Given the description of an element on the screen output the (x, y) to click on. 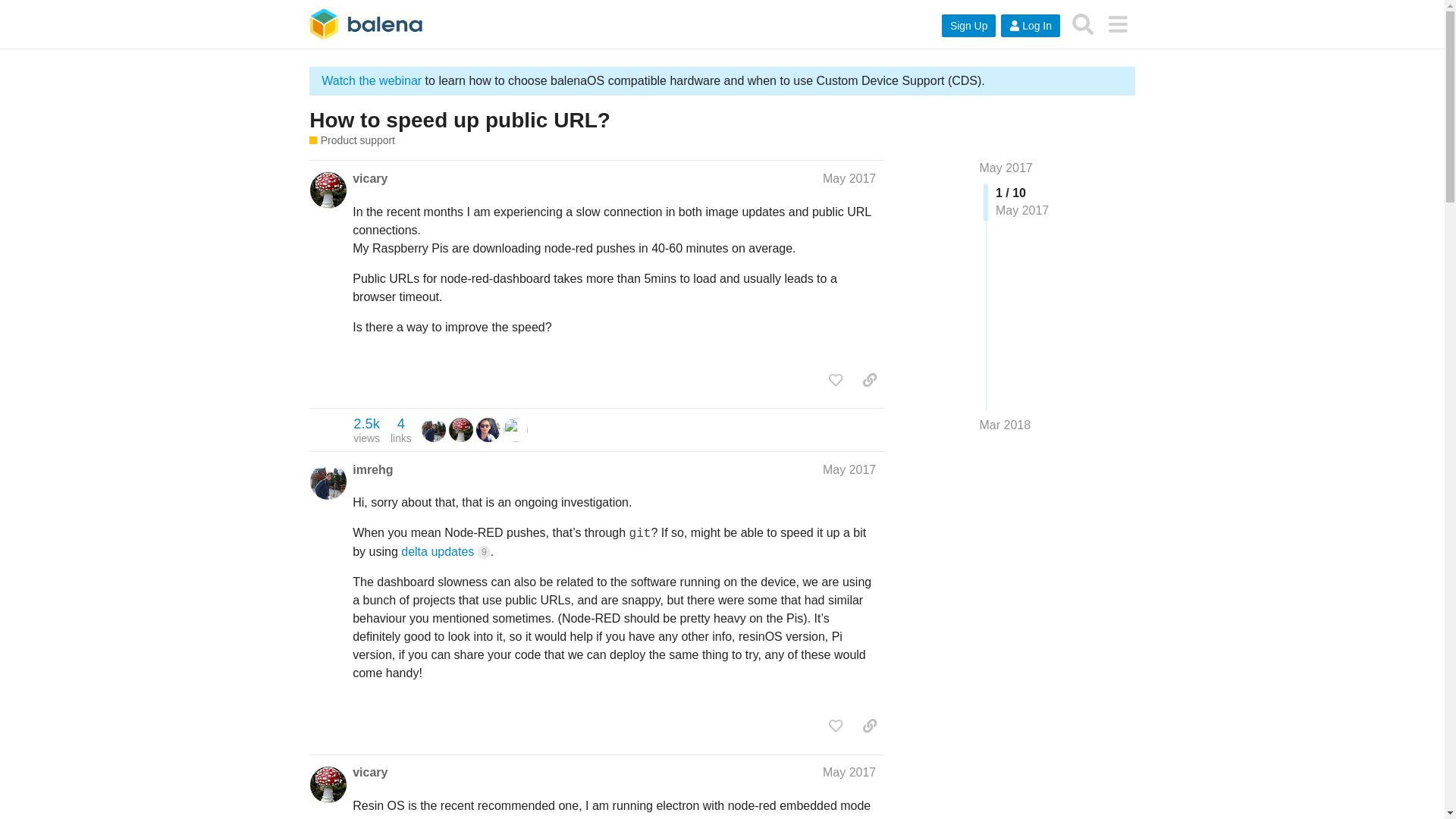
May 2017 (849, 469)
copy a link to this post to clipboard (869, 379)
Post date (849, 178)
Jump to the first post (1005, 167)
vicary (369, 178)
Mar 2018 (1004, 425)
Gergely Imreh (433, 429)
delta updates 9 (445, 551)
like this post (835, 379)
Kostas (488, 429)
